Given the description of an element on the screen output the (x, y) to click on. 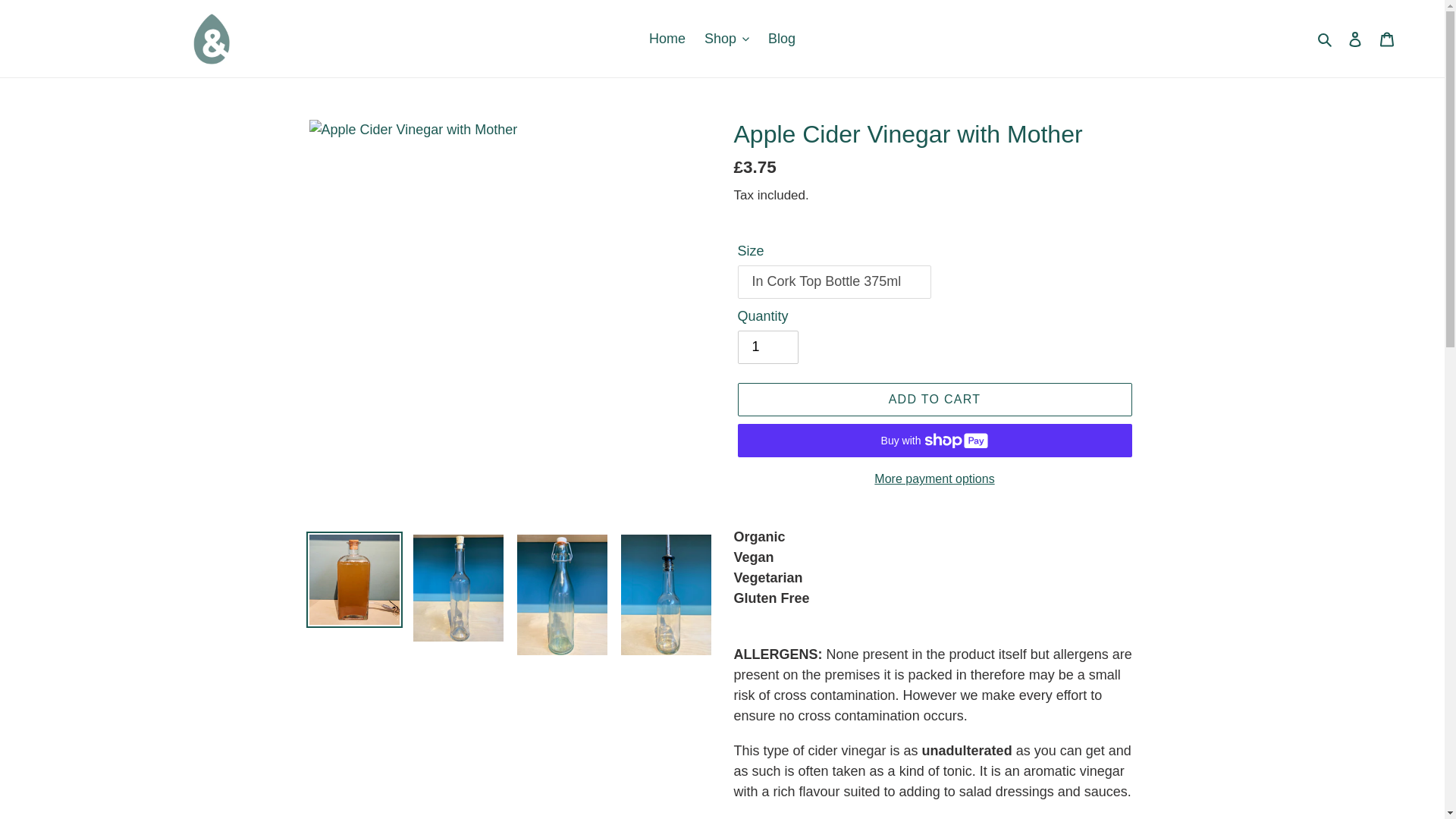
Shop (727, 37)
Cart (1387, 38)
Home (667, 37)
1 (766, 346)
Log in (1355, 38)
Search (1326, 38)
Blog (781, 37)
